Given the description of an element on the screen output the (x, y) to click on. 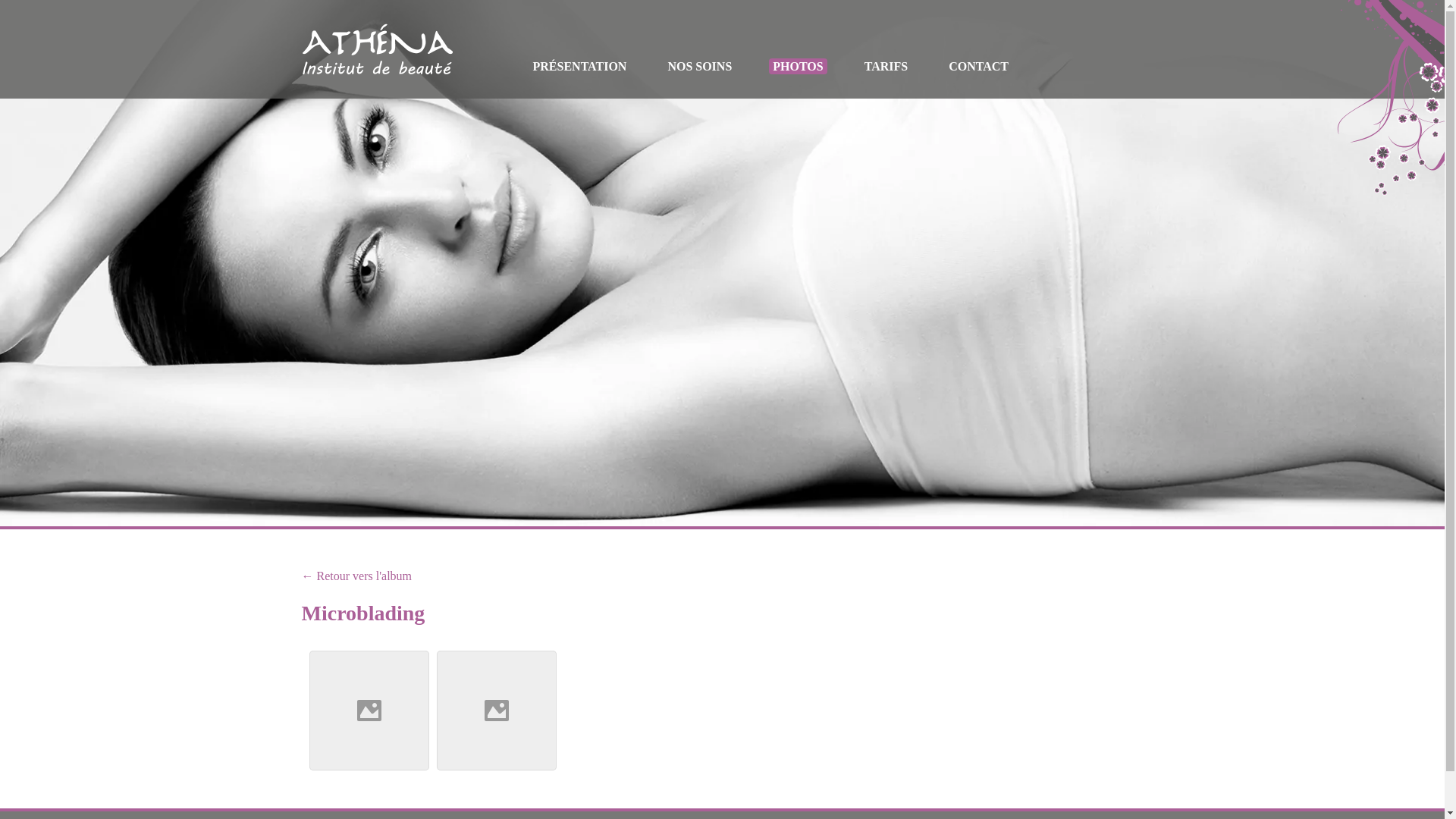
TARIFS Element type: text (886, 66)
NOS SOINS Element type: text (699, 66)
PHOTOS Element type: text (797, 66)
CONTACT Element type: text (978, 66)
